Given the description of an element on the screen output the (x, y) to click on. 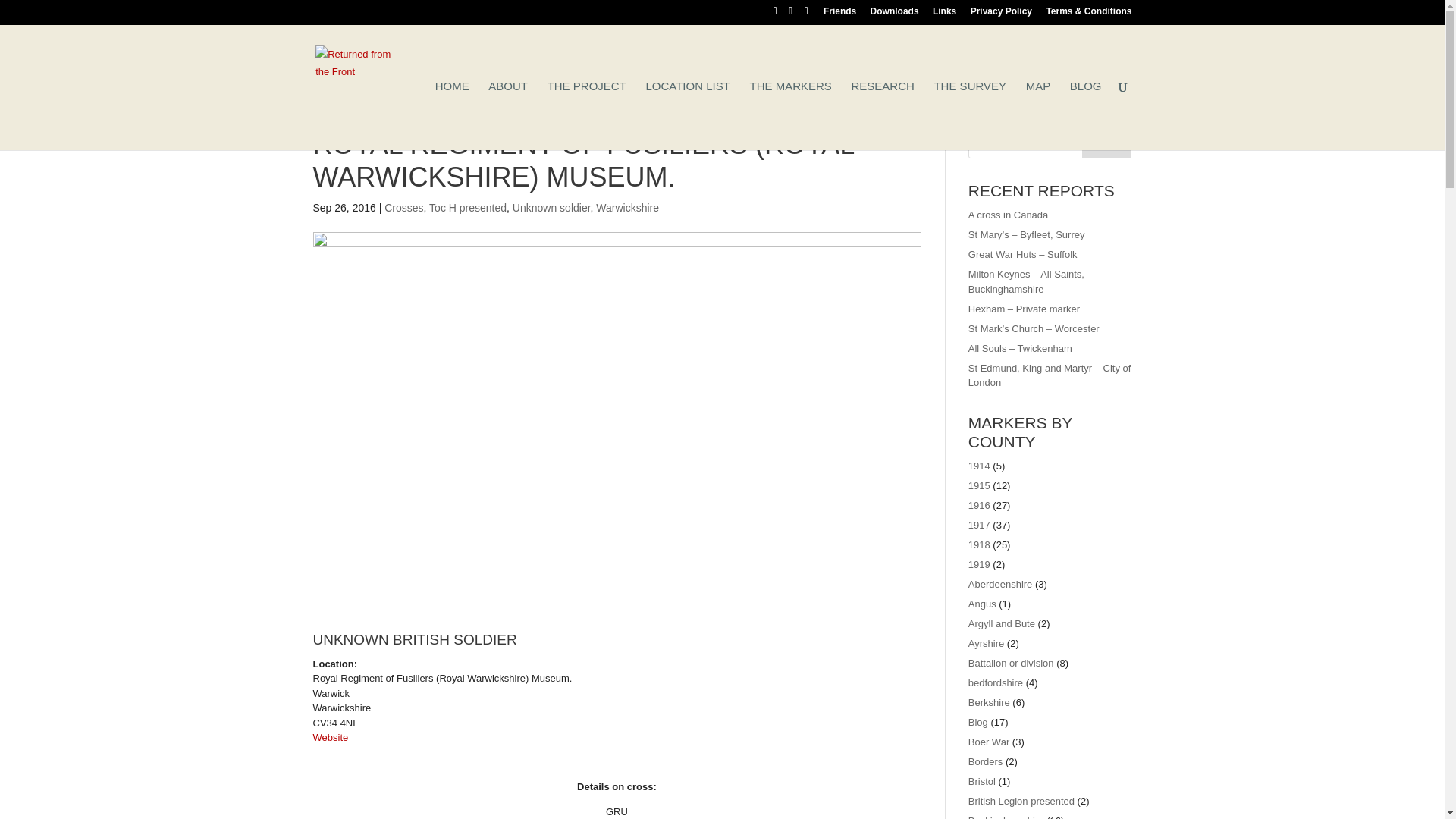
Unknown soldier (551, 207)
Website (330, 737)
Downloads (894, 14)
THE PROJECT (586, 115)
Friends (840, 14)
Privacy Policy (1001, 14)
THE SURVEY (969, 115)
Toc H presented (467, 207)
A cross in Canada (1008, 214)
Search (1106, 142)
THE MARKERS (790, 115)
RESEARCH (882, 115)
Links (944, 14)
Crosses (403, 207)
Search (1106, 142)
